Given the description of an element on the screen output the (x, y) to click on. 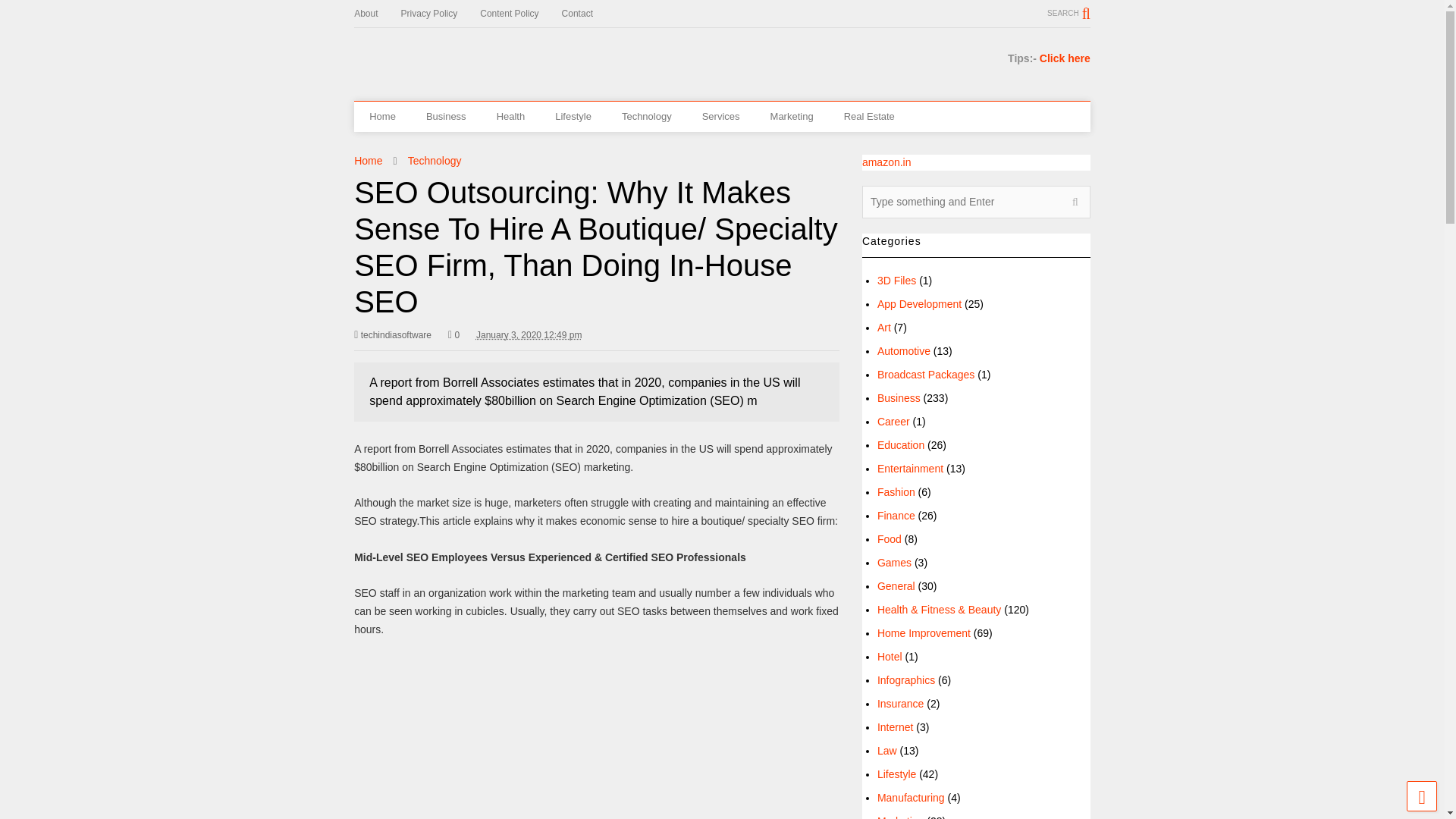
Marketing (791, 116)
SEARCH (1068, 13)
January 4, 2020 5:51 am (528, 335)
0 (454, 335)
techindiasoftware (391, 335)
Services (721, 116)
January 3, 2020 12:49 pm (528, 335)
Content Policy (520, 13)
About (376, 13)
Home (367, 160)
Health (510, 116)
Get Live Post (429, 56)
Contact (588, 13)
techindiasoftware (391, 335)
Lifestyle (573, 116)
